Given the description of an element on the screen output the (x, y) to click on. 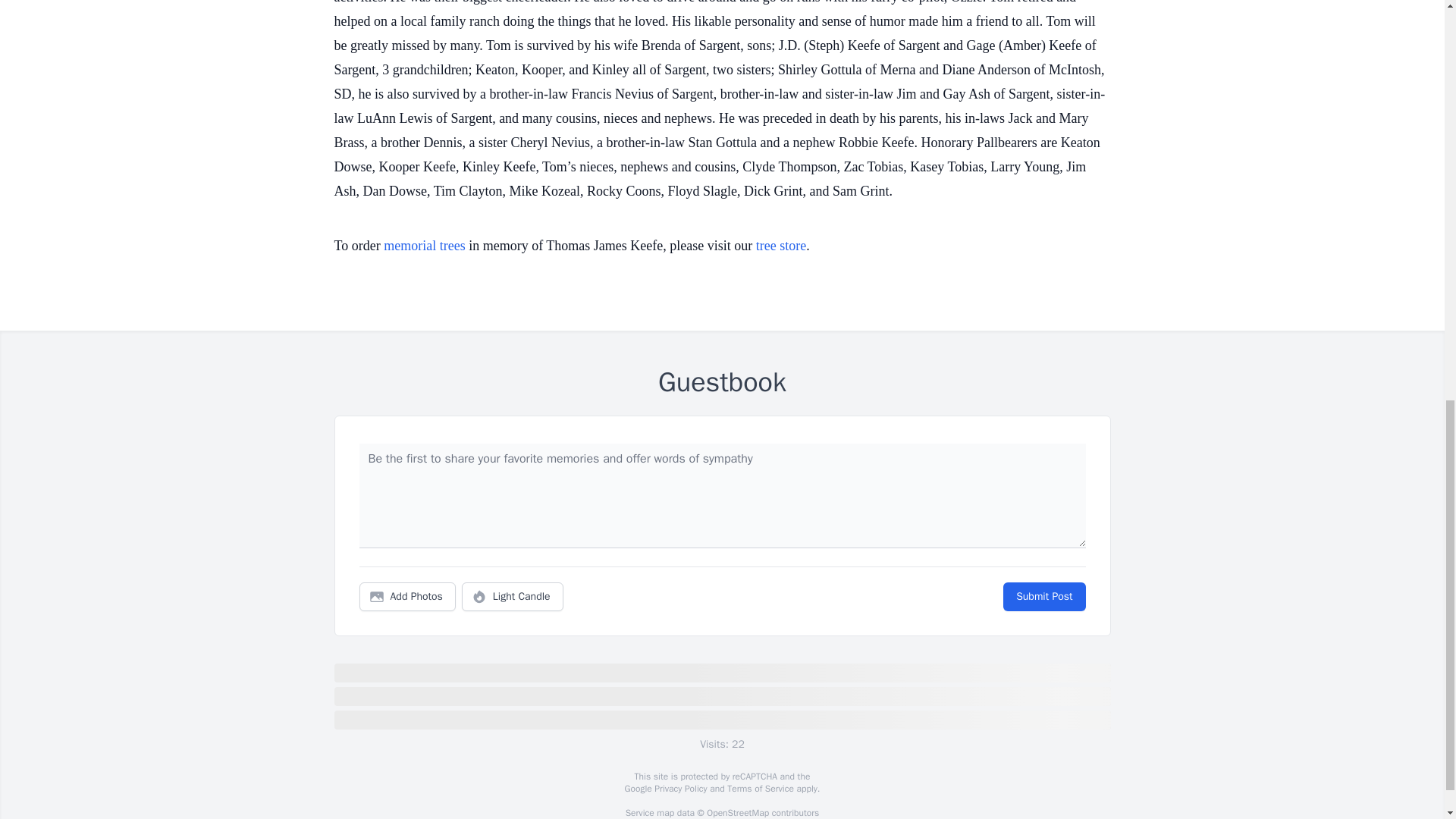
tree store (780, 245)
Add Photos (407, 596)
OpenStreetMap (737, 812)
Terms of Service (759, 788)
Light Candle (512, 596)
Submit Post (1043, 596)
Privacy Policy (679, 788)
memorial trees (424, 245)
